Given the description of an element on the screen output the (x, y) to click on. 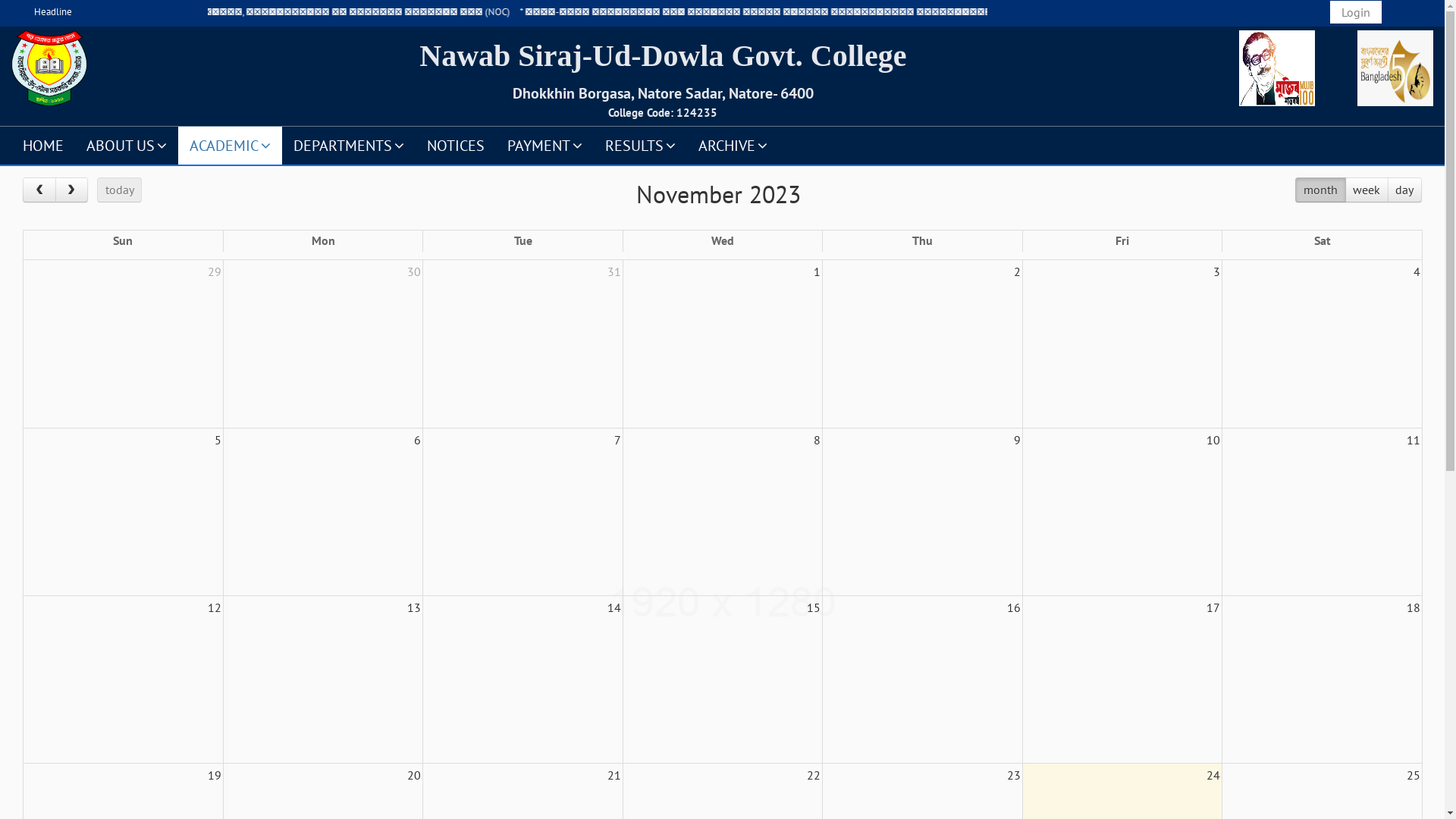
Login Element type: text (1355, 11)
DEPARTMENTS Element type: text (348, 144)
week Element type: text (1366, 190)
HOME Element type: text (43, 144)
day Element type: text (1404, 190)
Nawab Siraj-Ud-Dowla Govt. College Element type: text (662, 55)
NOTICES Element type: text (455, 144)
ARCHIVE Element type: text (732, 144)
month Element type: text (1320, 190)
ACADEMIC Element type: text (230, 144)
ABOUT US Element type: text (126, 144)
today Element type: text (119, 190)
PAYMENT Element type: text (544, 144)
RESULTS Element type: text (640, 144)
